Given the description of an element on the screen output the (x, y) to click on. 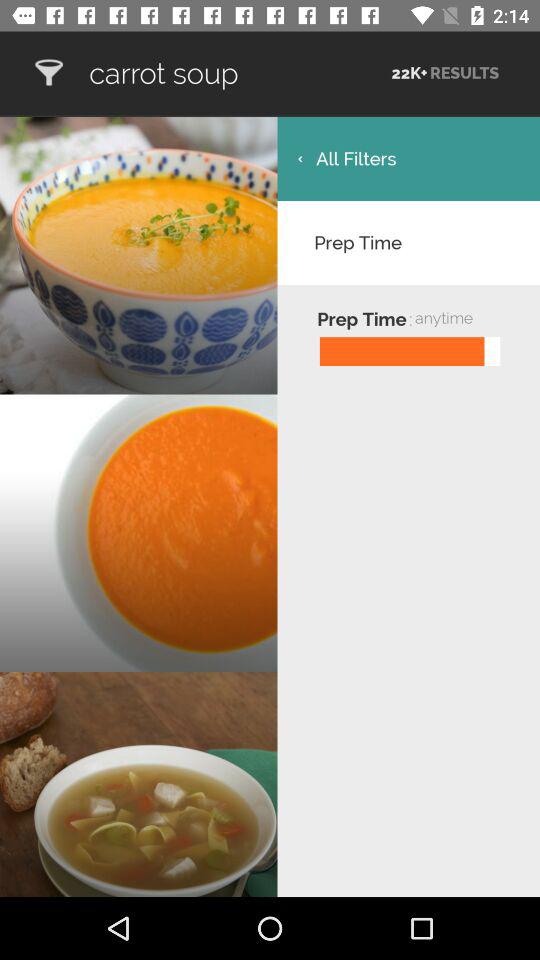
tap the icon above the prep time item (408, 158)
